Given the description of an element on the screen output the (x, y) to click on. 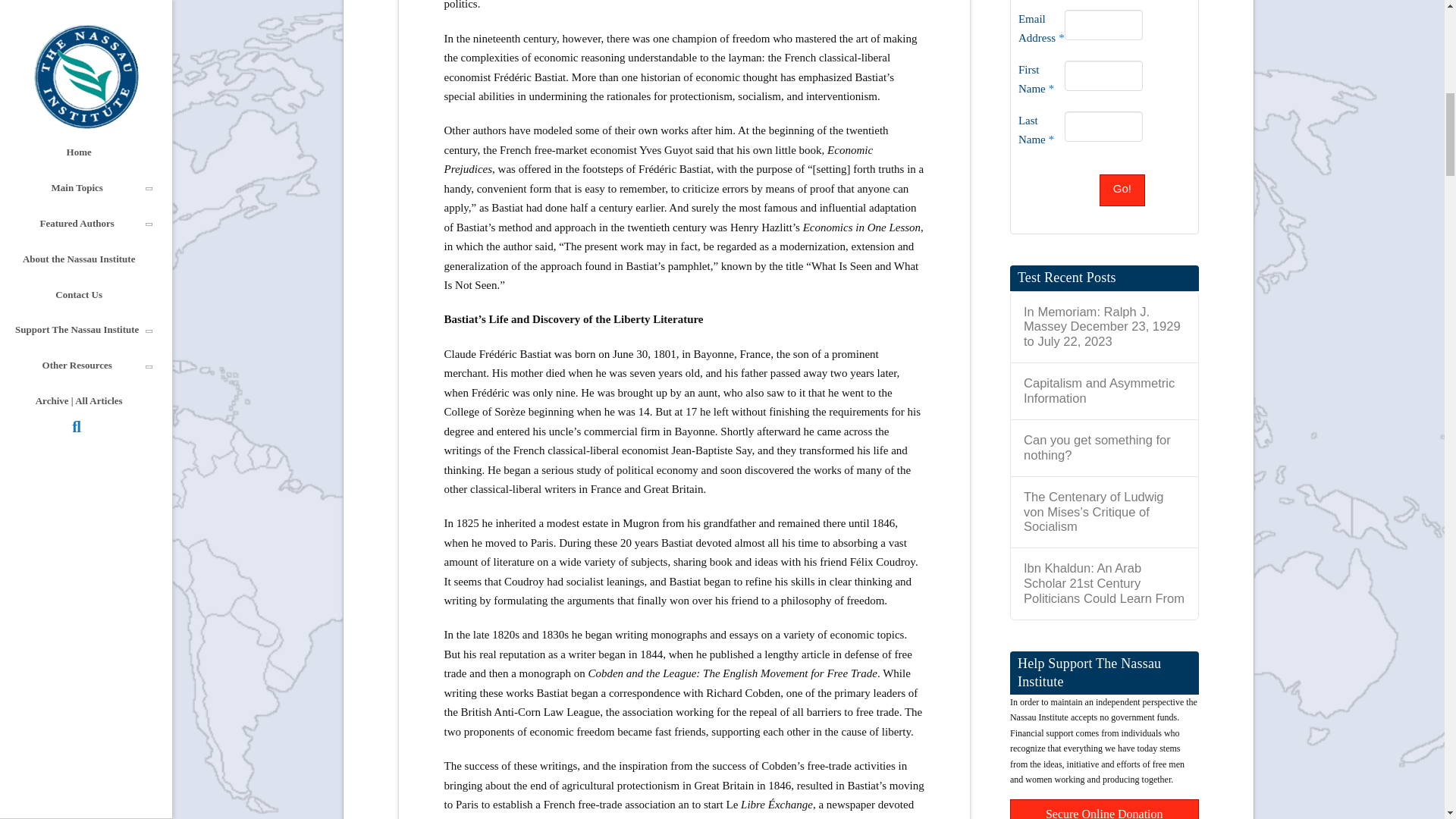
Go! (1121, 190)
